Given the description of an element on the screen output the (x, y) to click on. 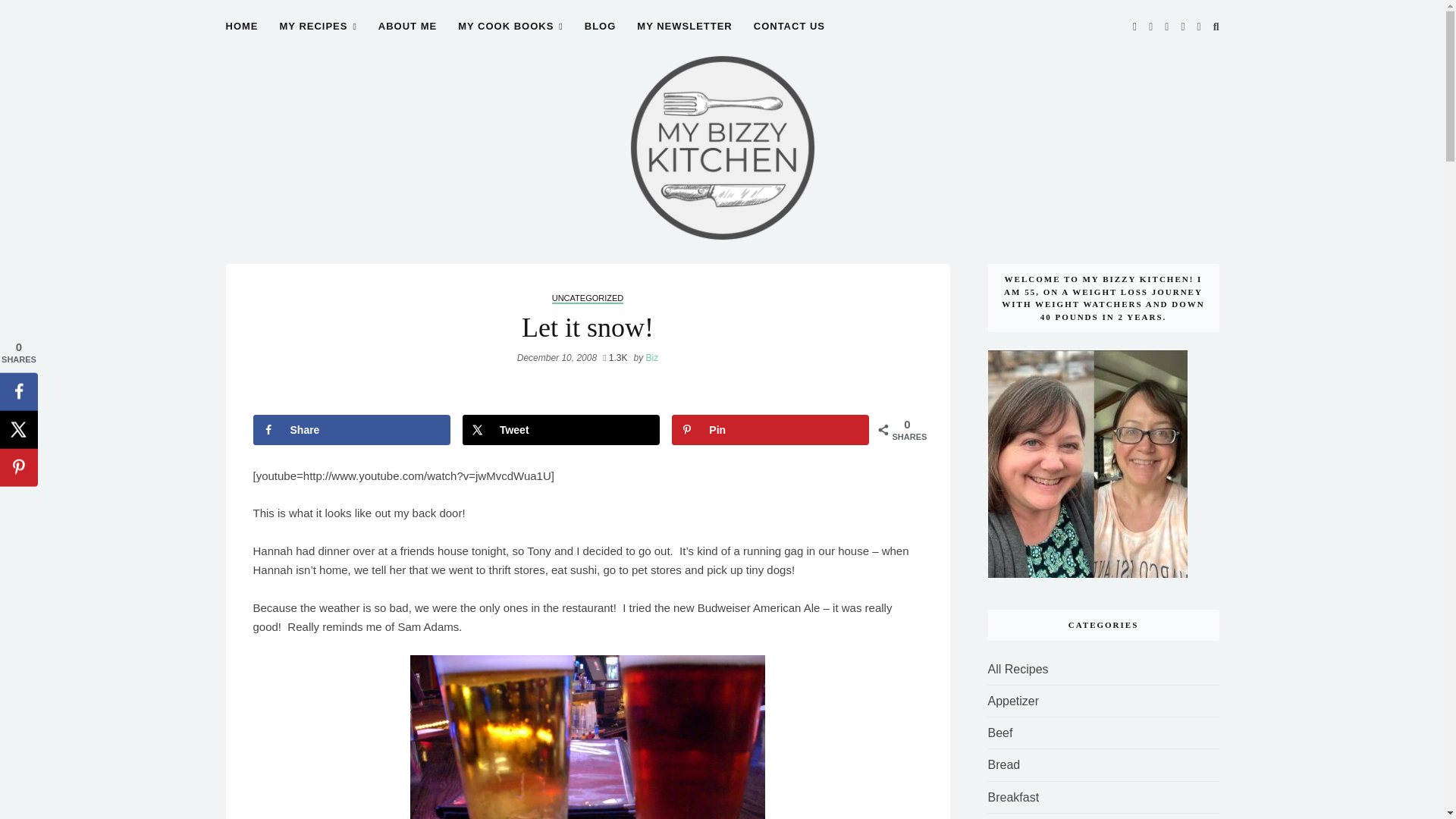
Share on Facebook (351, 429)
Share on X (561, 429)
dscn3531-640x480 (587, 737)
HOME (242, 35)
Save to Pinterest (770, 429)
MY RECIPES (317, 35)
